Given the description of an element on the screen output the (x, y) to click on. 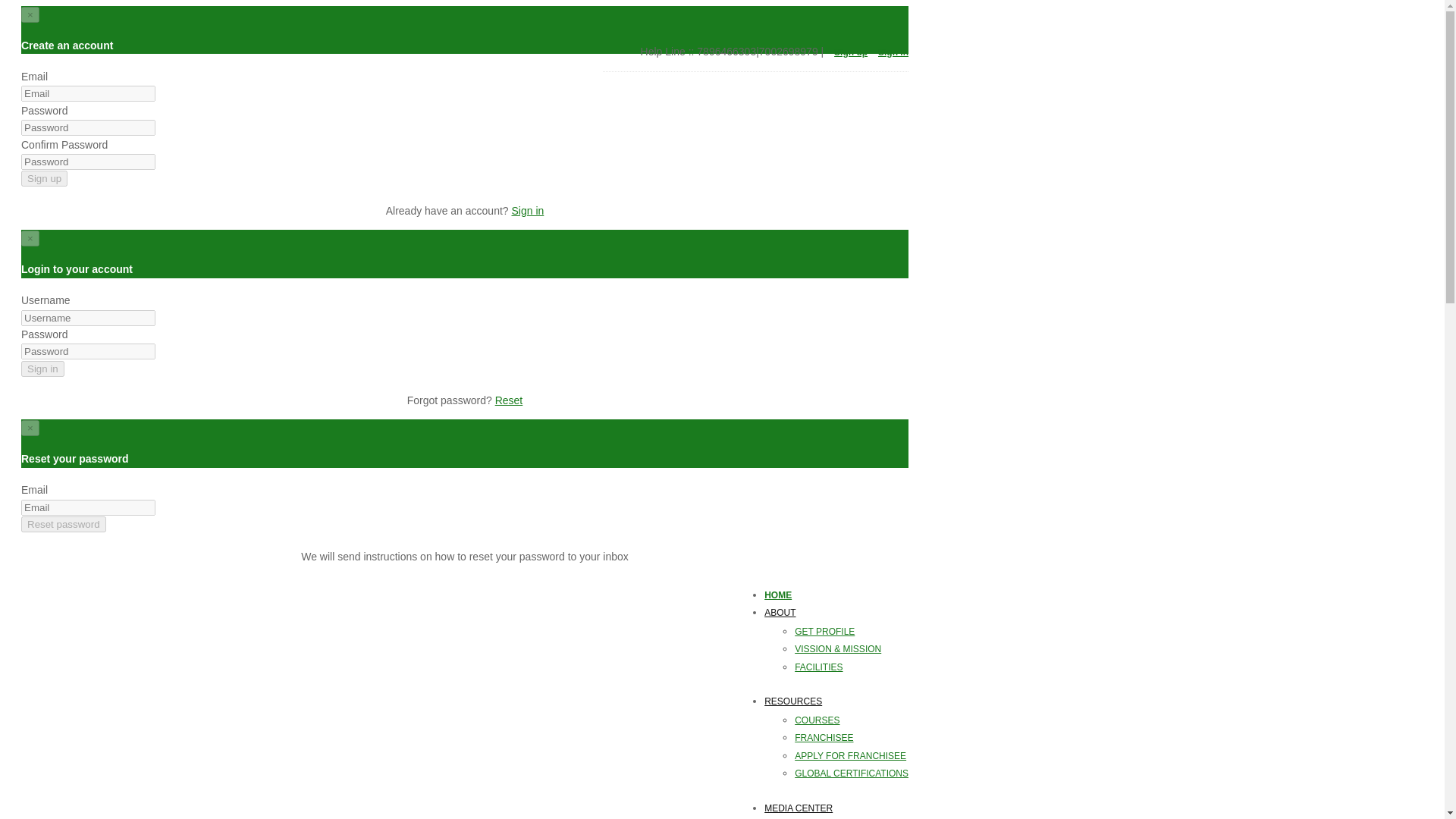
HOME (836, 595)
Sign up (43, 178)
GET PROFILE (851, 631)
RESOURCES (836, 701)
FRANCHISEE (851, 737)
Sign in (527, 210)
Sign in (892, 51)
APPLY FOR FRANCHISEE (851, 755)
GLOBAL CERTIFICATIONS (851, 773)
FACILITIES (851, 667)
COURSES (851, 719)
Sign up (850, 51)
Reset password (63, 524)
MEDIA CENTER (836, 808)
